Given the description of an element on the screen output the (x, y) to click on. 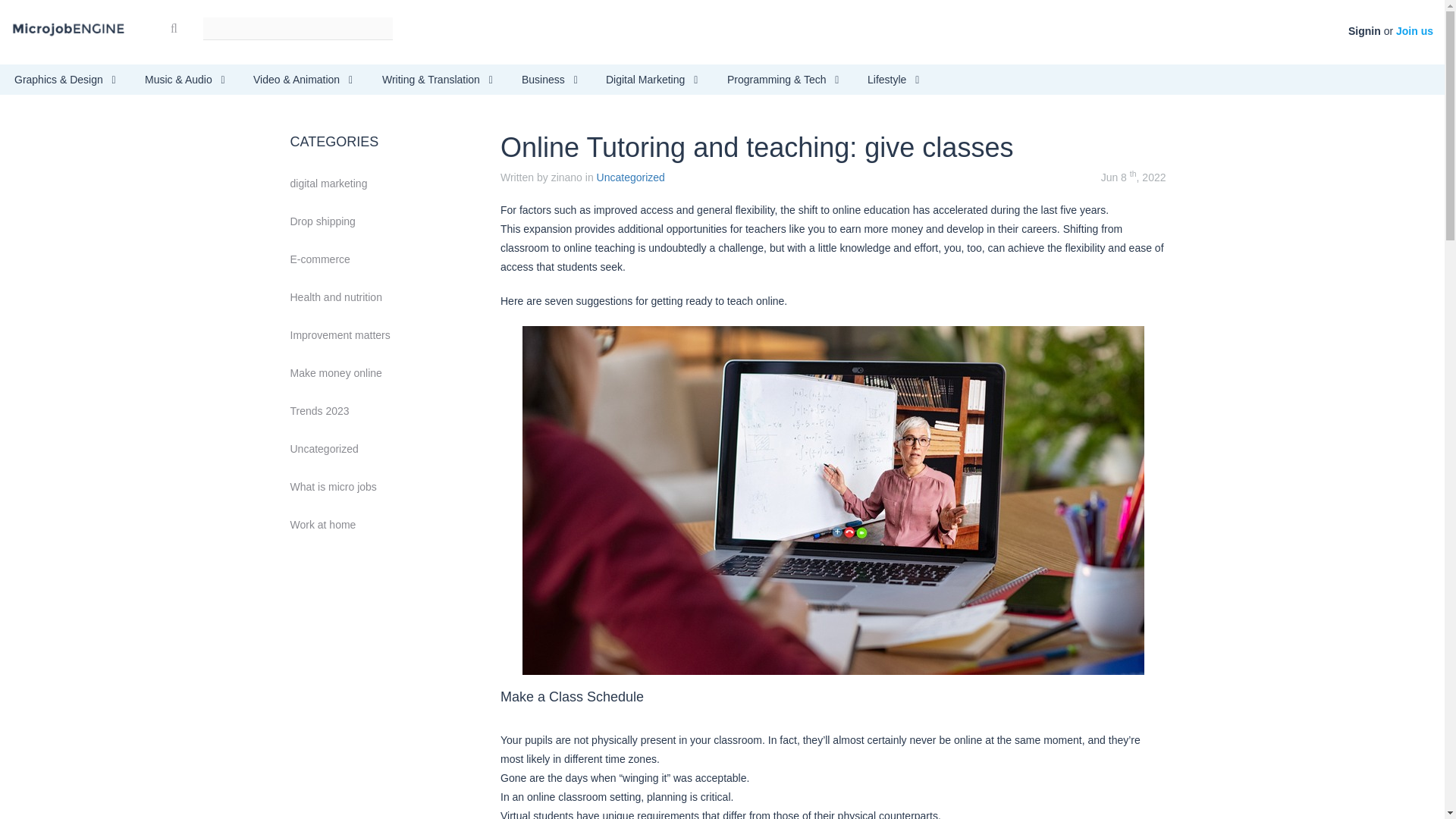
Signin (1364, 30)
Join us (1414, 30)
